Given the description of an element on the screen output the (x, y) to click on. 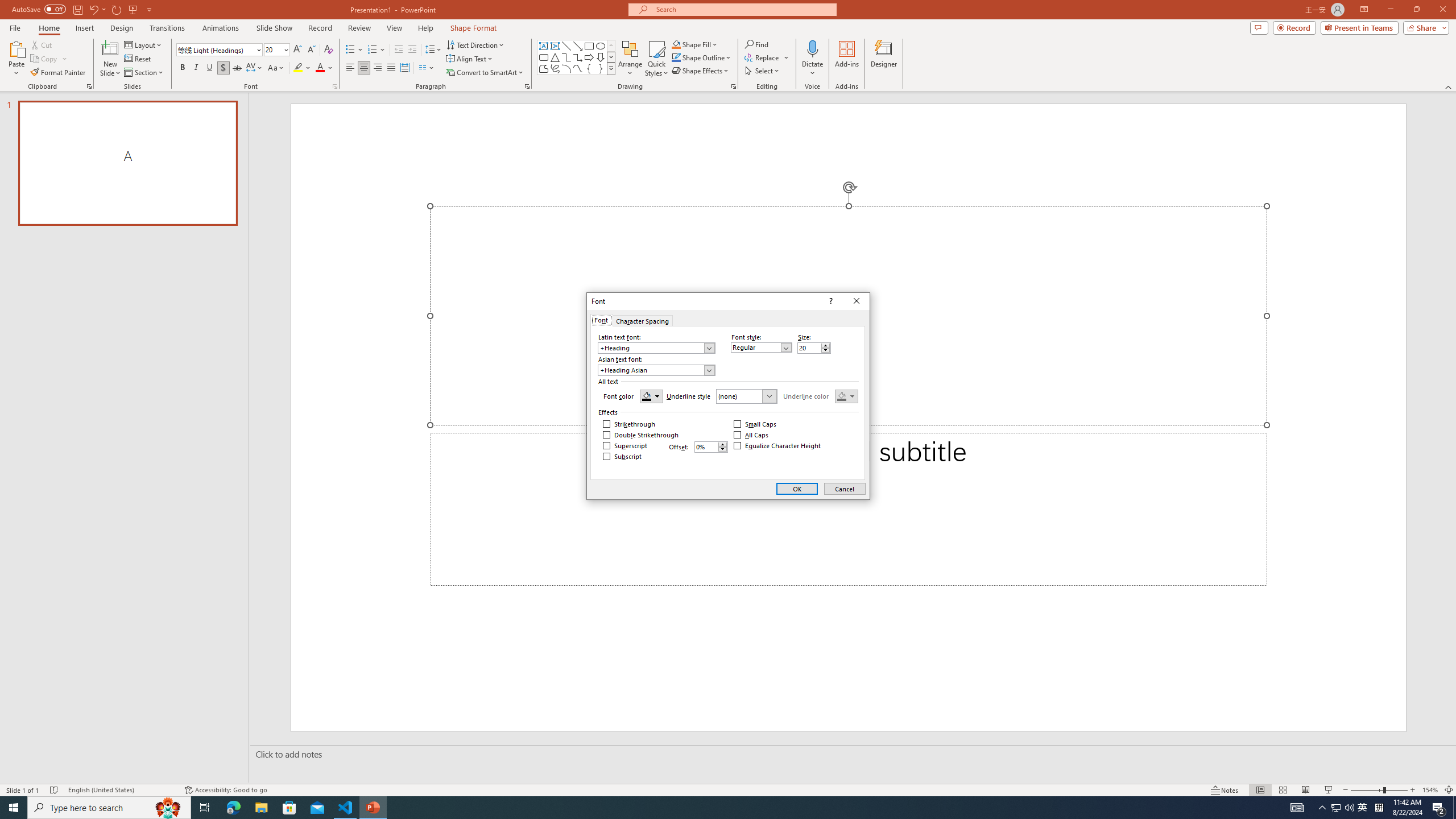
Size (809, 347)
Underline style (746, 396)
Underline color (846, 396)
All Caps (751, 434)
Asian text font (656, 369)
